Given the description of an element on the screen output the (x, y) to click on. 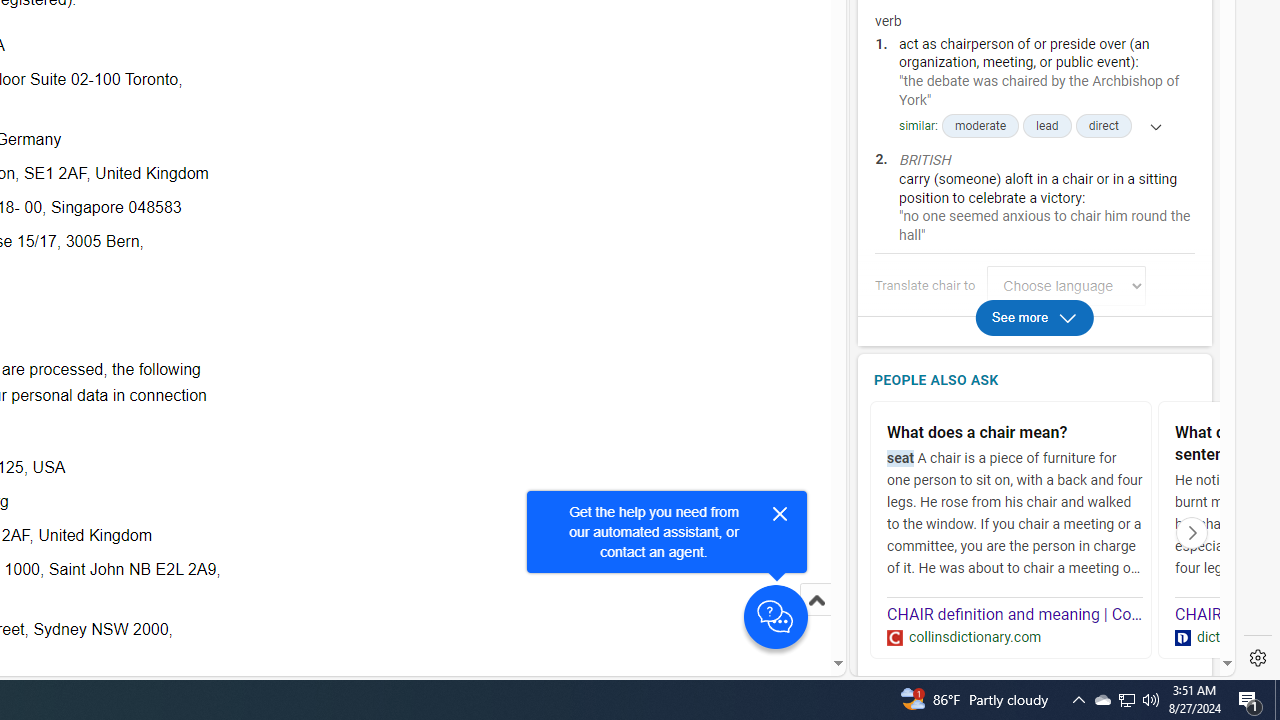
moderate (980, 125)
Scroll to top (816, 599)
Translate chair to Choose language (1066, 285)
Show more (1149, 125)
direct (1103, 125)
